Given the description of an element on the screen output the (x, y) to click on. 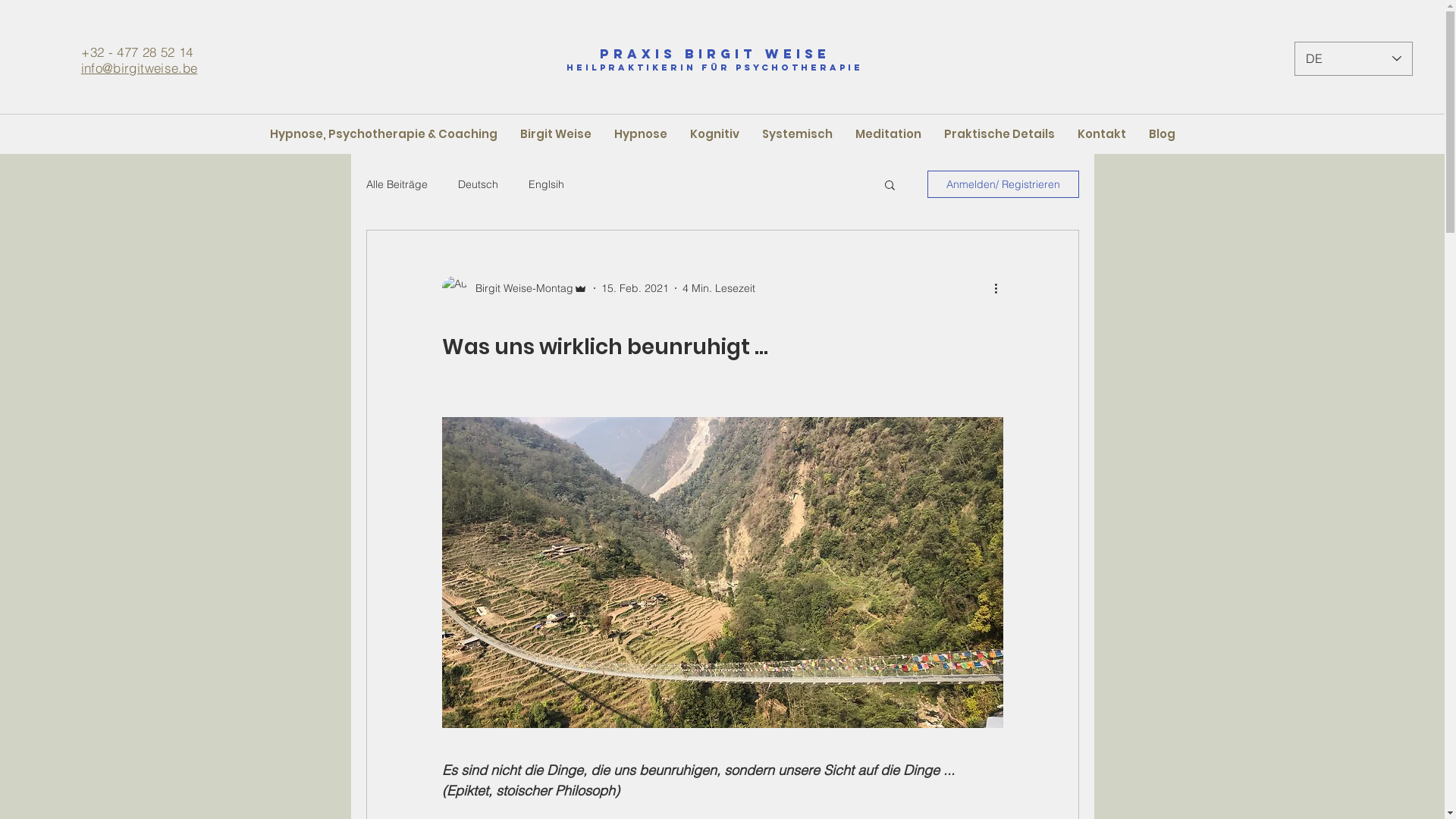
Meditation Element type: text (887, 134)
Blog Element type: text (1161, 134)
PRAXIS Birgit Weise Element type: text (714, 53)
Praktische Details Element type: text (999, 134)
Kognitiv Element type: text (713, 134)
Kontakt Element type: text (1101, 134)
Hypnose, Psychotherapie & Coaching Element type: text (382, 134)
Deutsch Element type: text (478, 184)
Birgit Weise Element type: text (555, 134)
Systemisch Element type: text (797, 134)
Anmelden/ Registrieren Element type: text (1002, 183)
Hypnose Element type: text (639, 134)
Englsih Element type: text (545, 184)
info@birgitweise.be Element type: text (139, 67)
